Given the description of an element on the screen output the (x, y) to click on. 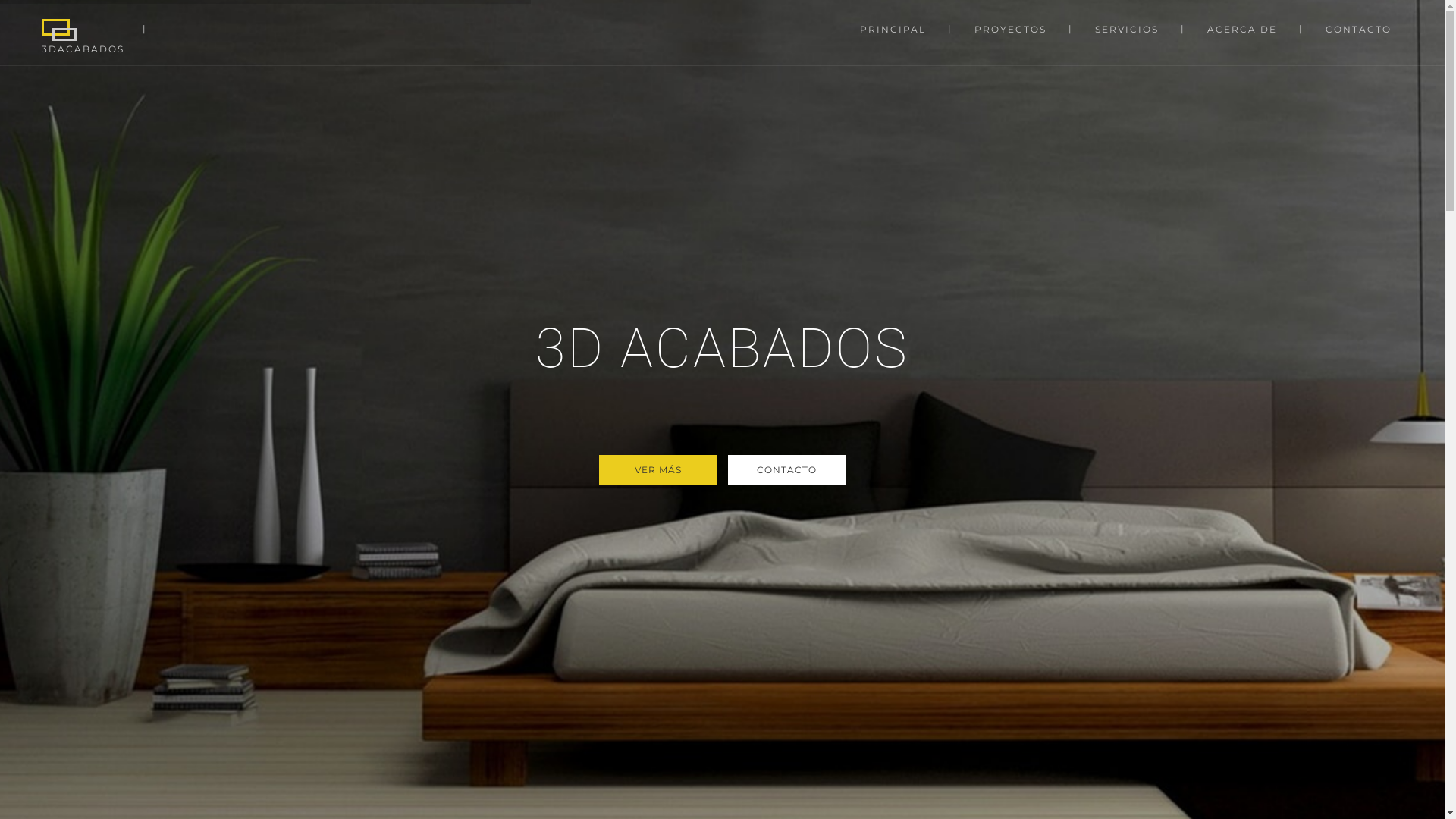
PROYECTOS Element type: text (1010, 28)
ACERCA DE Element type: text (1241, 28)
CONTACTO Element type: text (1358, 28)
3DACABADOS Element type: text (86, 32)
CONTACTO Element type: text (786, 470)
PRINCIPAL Element type: text (892, 28)
SERVICIOS Element type: text (1126, 28)
VER PROYECTOS Element type: text (657, 470)
